Given the description of an element on the screen output the (x, y) to click on. 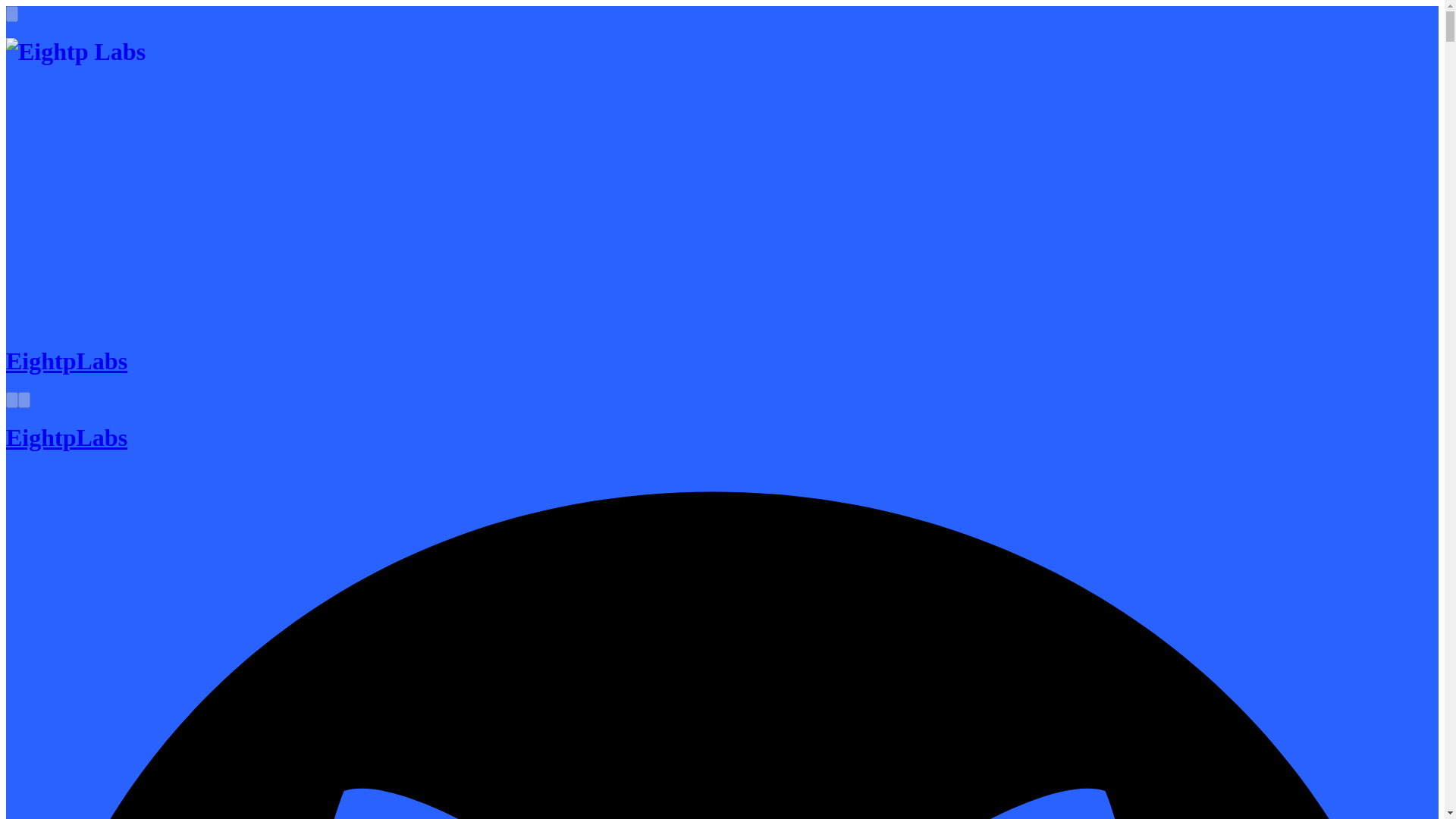
EightpLabs (66, 437)
